Given the description of an element on the screen output the (x, y) to click on. 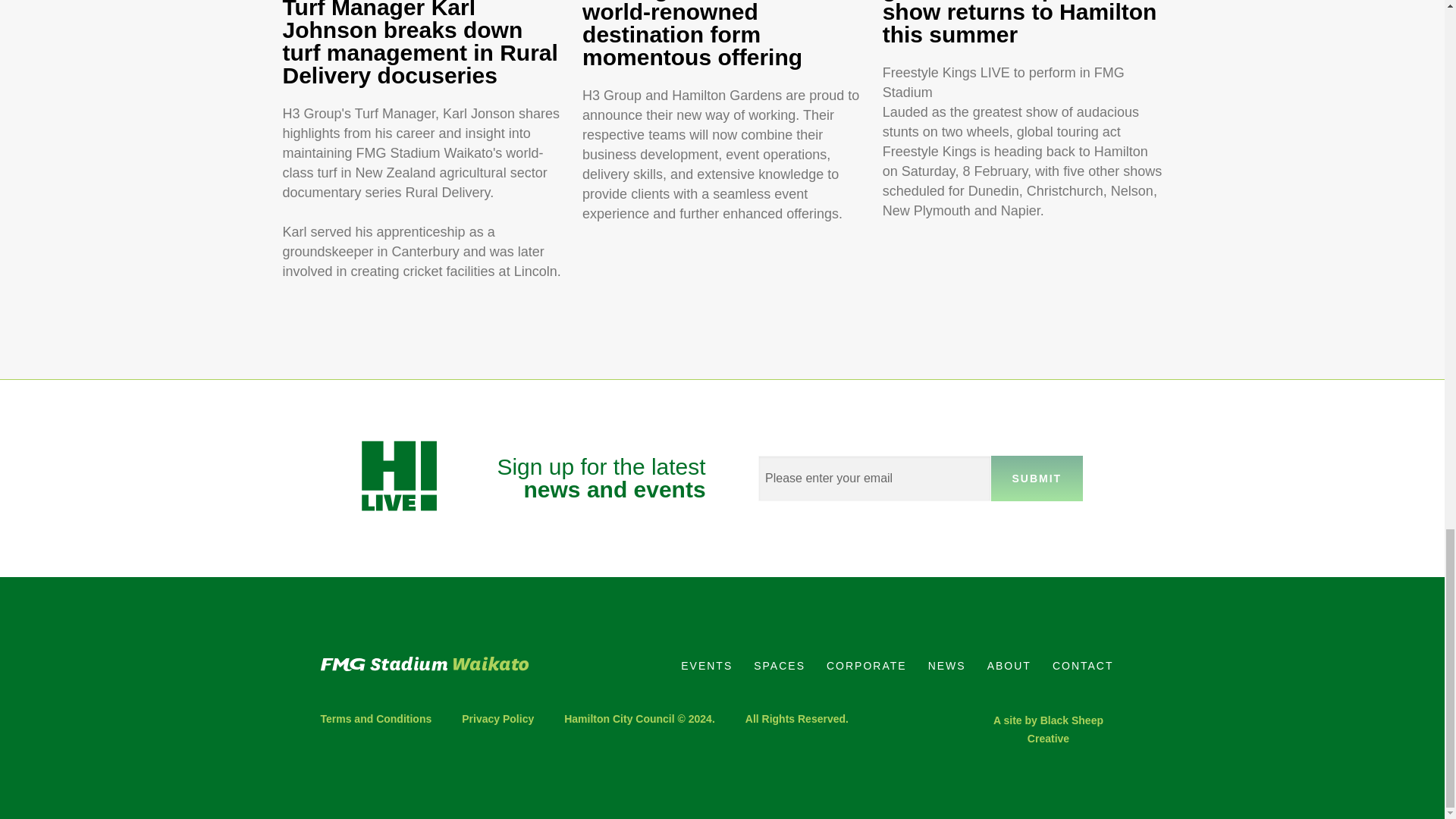
A site by Black Sheep Creative (1047, 729)
NEWS (946, 665)
SUBMIT (1037, 477)
Terms and Conditions (383, 718)
Privacy Policy (497, 718)
SPACES (778, 665)
CORPORATE (866, 665)
EVENTS (705, 665)
ABOUT (1009, 665)
CONTACT (1083, 665)
